Given the description of an element on the screen output the (x, y) to click on. 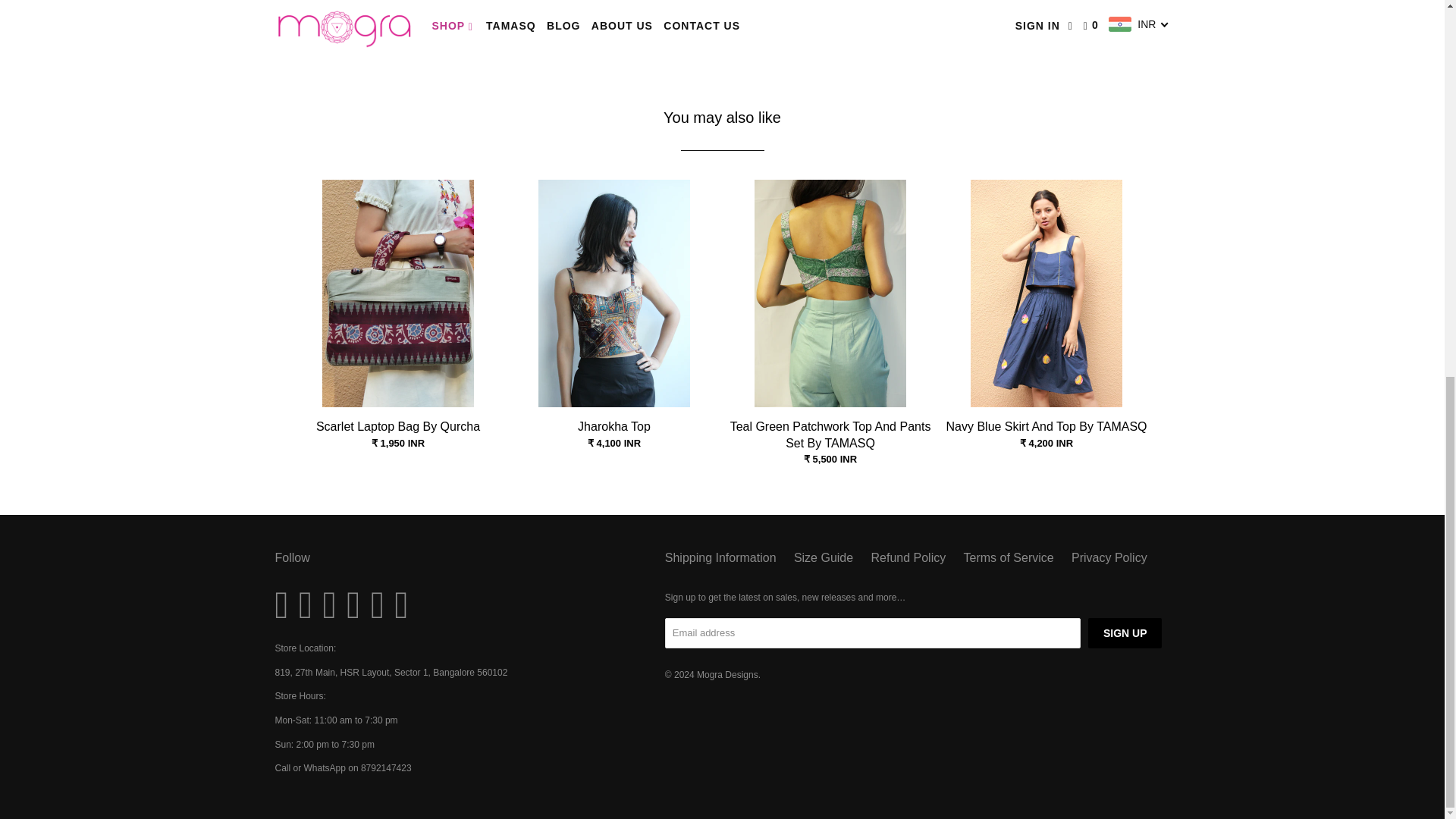
Mogra Designs on LinkedIn (381, 605)
Mogra Designs on Twitter (285, 605)
Mogra Designs on Pinterest (333, 605)
Candy Corn Top and Skirt Set (498, 29)
Mogra Designs on Facebook (309, 605)
Mogra Designs Store Location (390, 672)
Mogra Designs on Instagram (357, 605)
Email Mogra Designs (405, 605)
Sign Up (1124, 633)
